Given the description of an element on the screen output the (x, y) to click on. 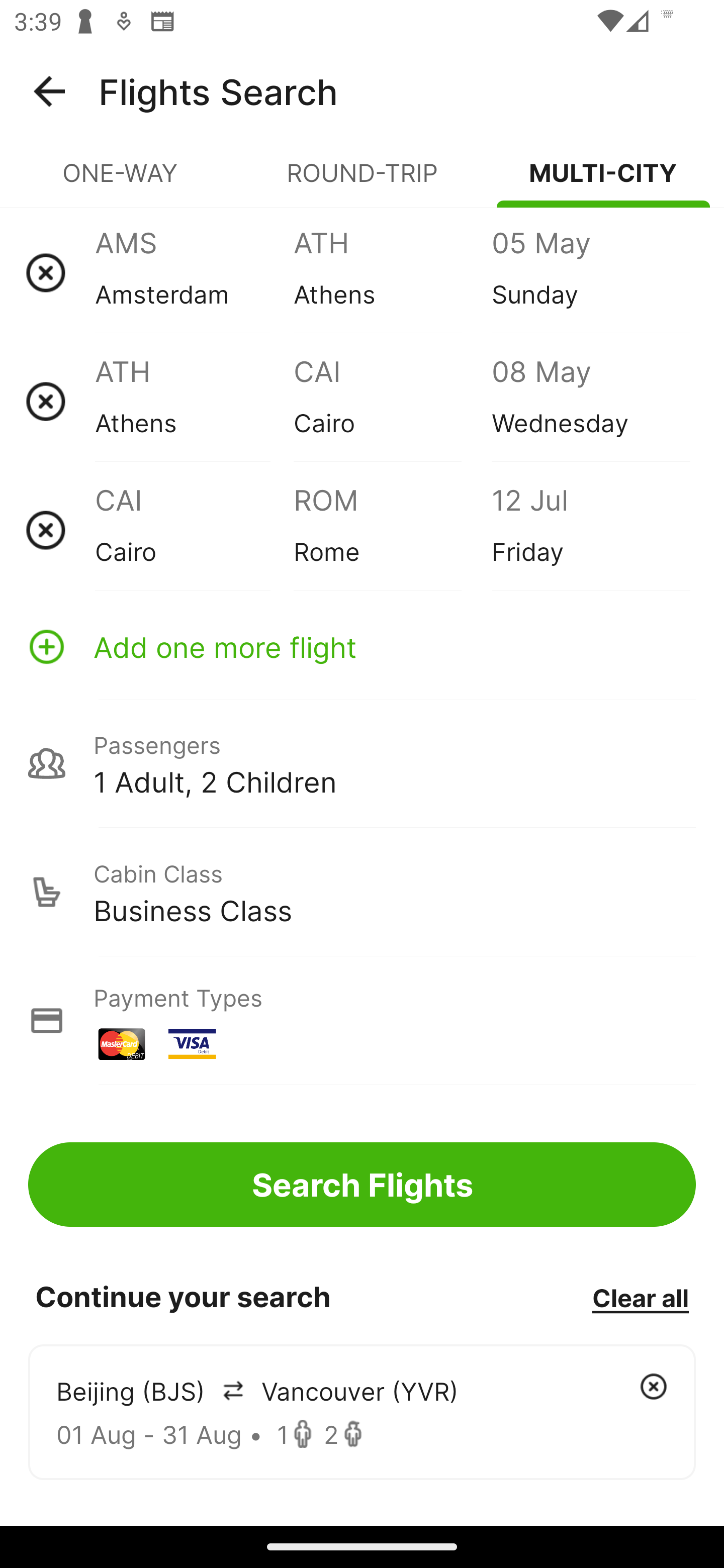
ONE-WAY (120, 180)
ROUND-TRIP (361, 180)
MULTI-CITY (603, 180)
AMS Amsterdam (193, 272)
ATH Athens (392, 272)
05 May Sunday (590, 272)
ATH Athens (193, 401)
CAI Cairo (392, 401)
08 May Wednesday (590, 401)
CAI Cairo (193, 529)
ROM Rome (392, 529)
12 Jul Friday (590, 529)
Add one more flight (362, 646)
Passengers 1 Adult, 2 Children (362, 762)
Cabin Class Business Class (362, 891)
Payment Types (362, 1020)
Search Flights (361, 1184)
Clear all (640, 1297)
